Given the description of an element on the screen output the (x, y) to click on. 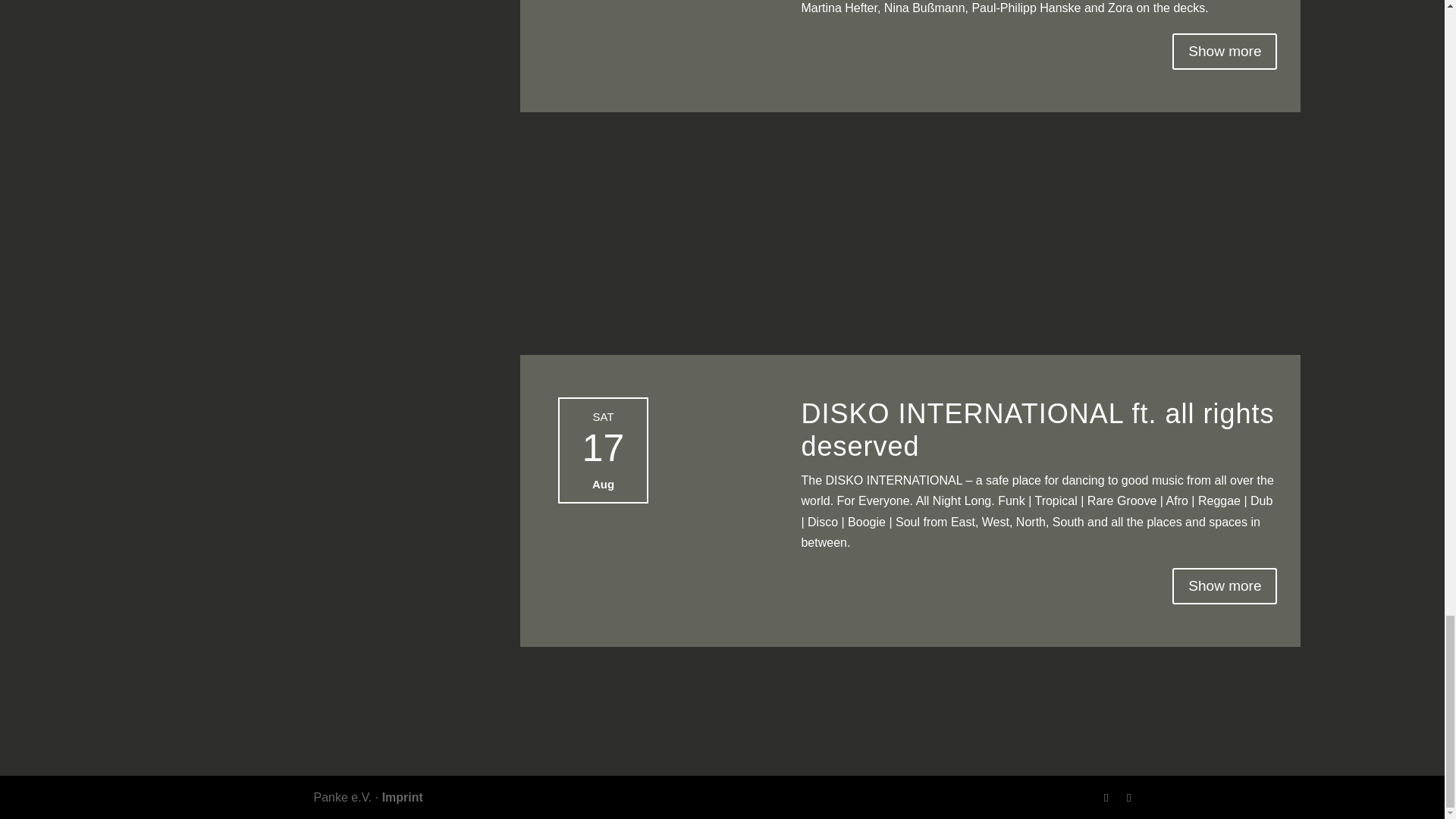
Show more (1224, 51)
Show more (1224, 586)
Imprint (402, 797)
